Given the description of an element on the screen output the (x, y) to click on. 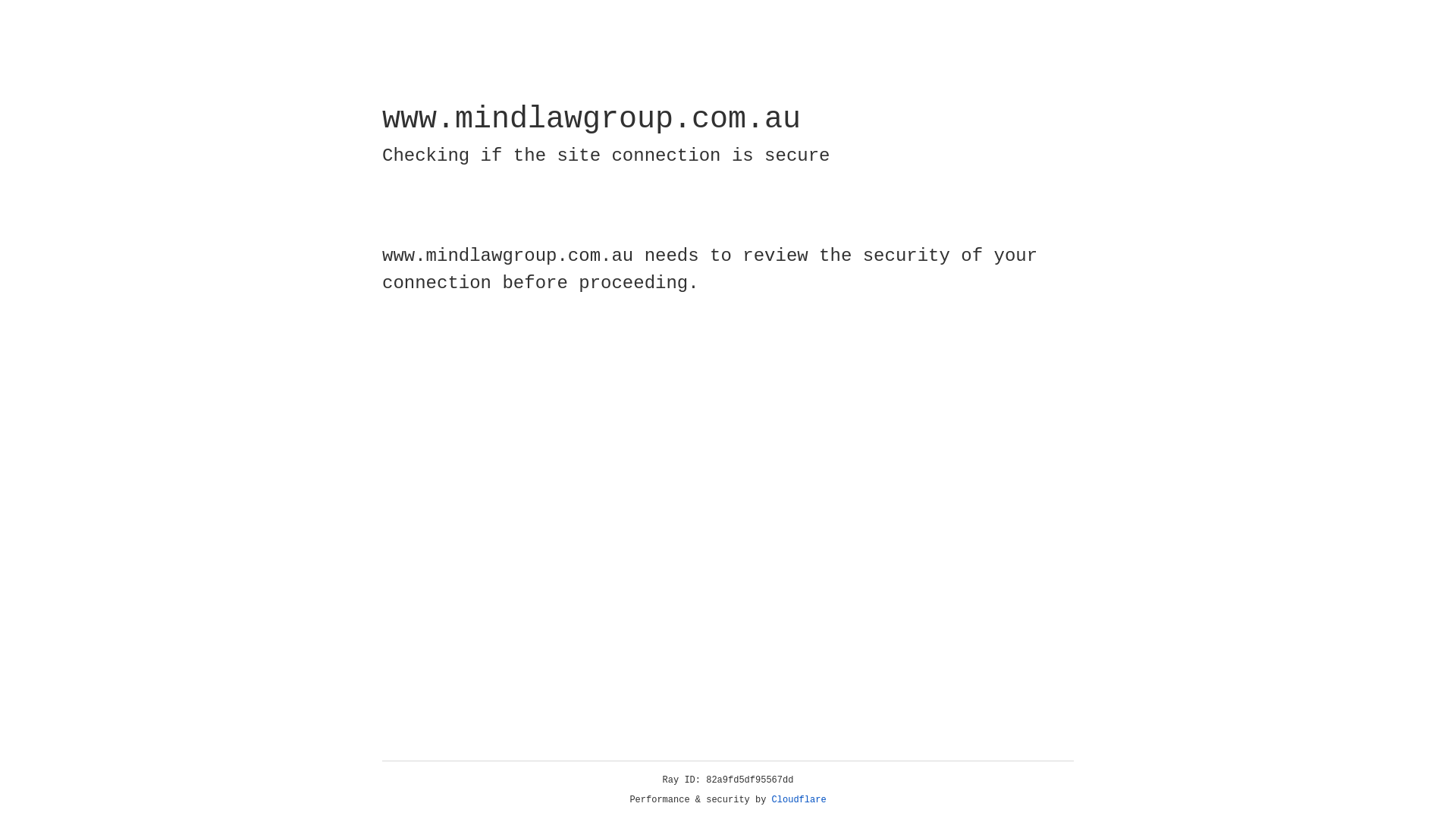
Cloudflare Element type: text (798, 799)
